Given the description of an element on the screen output the (x, y) to click on. 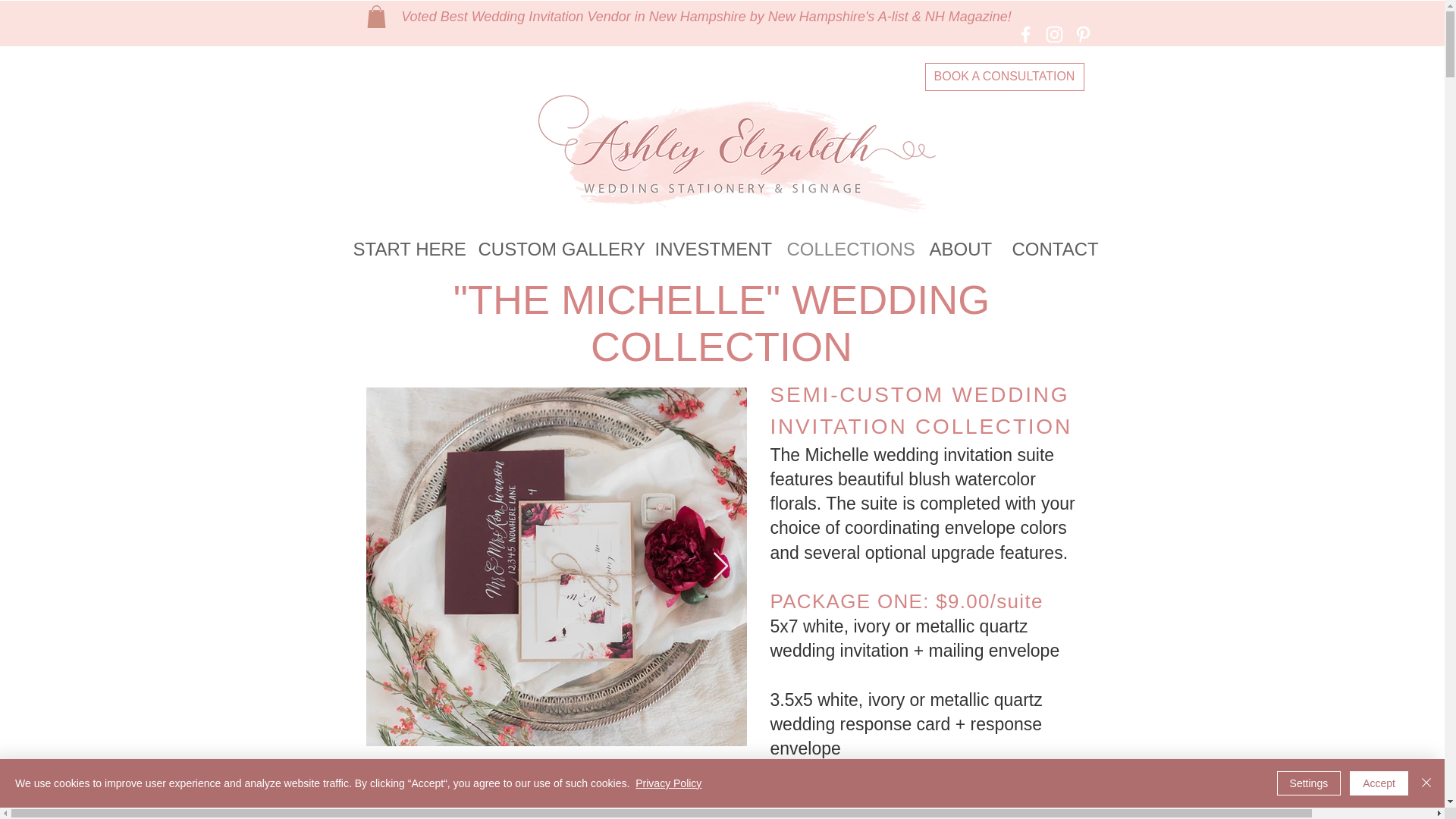
COLLECTIONS (845, 248)
INVESTMENT (708, 248)
START HERE (402, 248)
BOOK A CONSULTATION (1004, 76)
ABOUT (958, 248)
CUSTOM GALLERY (555, 248)
CONTACT (1053, 248)
